Given the description of an element on the screen output the (x, y) to click on. 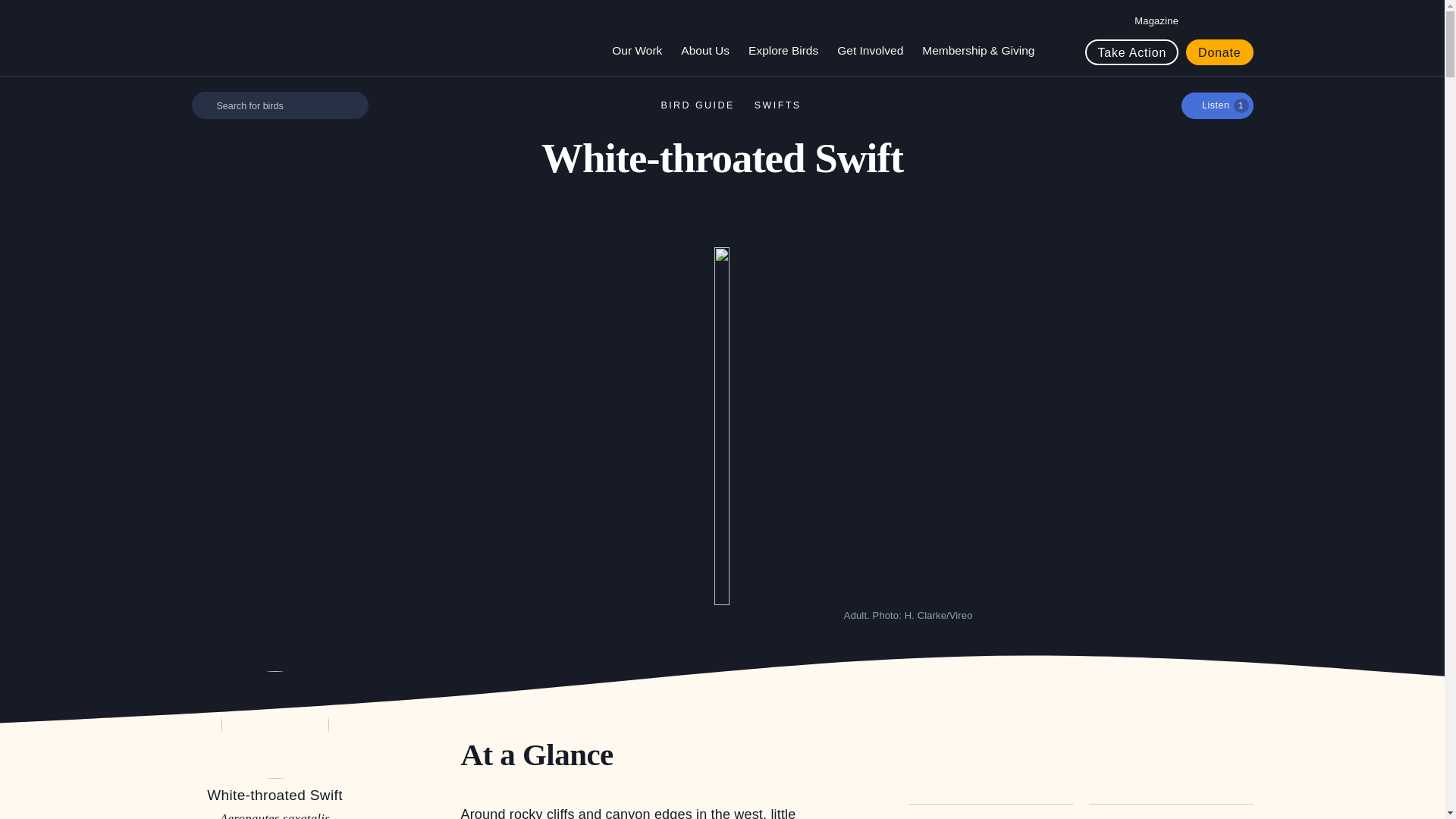
Magazine (1155, 20)
Explore Birds (788, 50)
Audubon (266, 37)
About Us (711, 50)
Open Gallery (949, 270)
Our Work (641, 50)
